Given the description of an element on the screen output the (x, y) to click on. 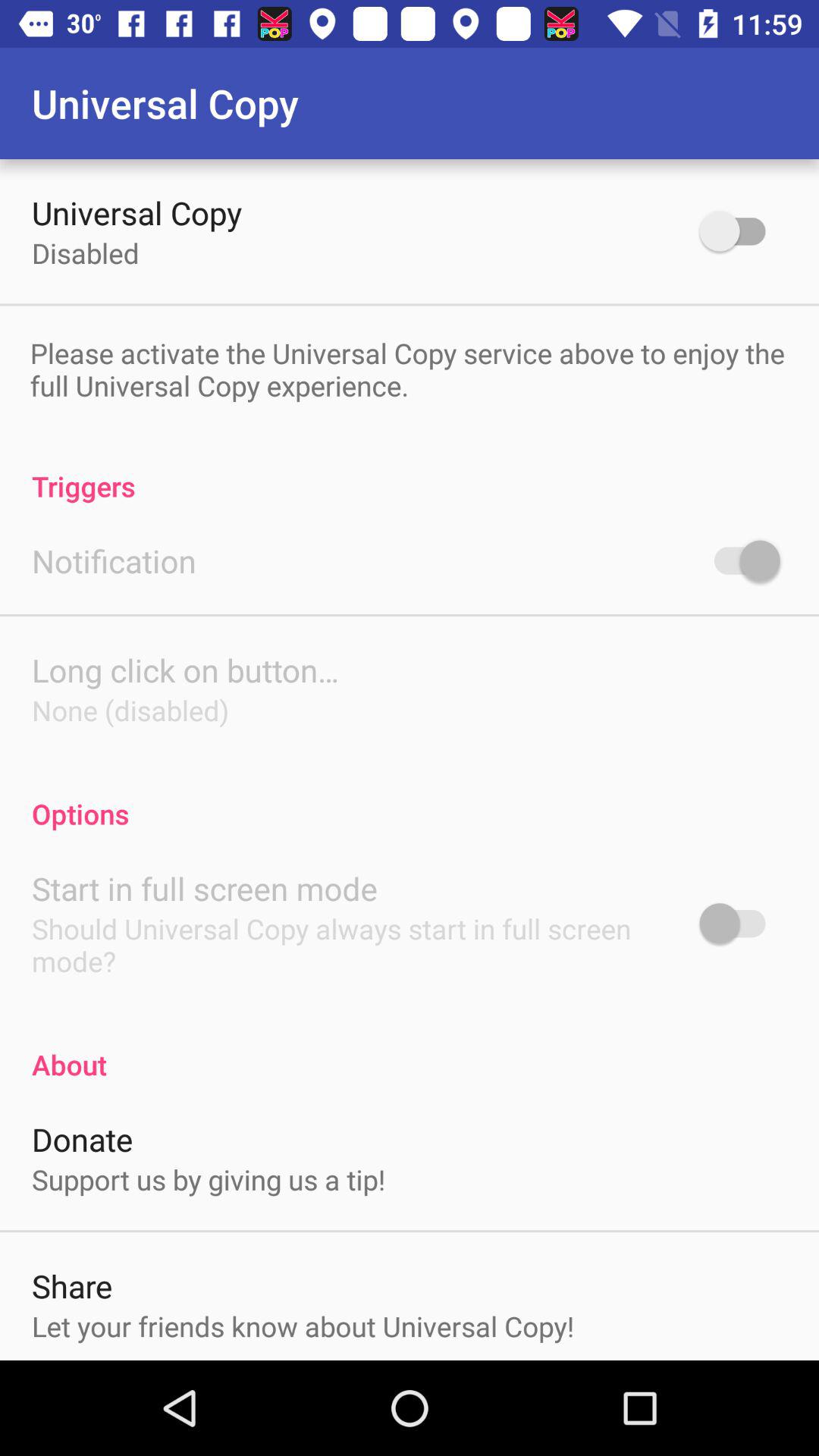
launch let your friends (302, 1326)
